Given the description of an element on the screen output the (x, y) to click on. 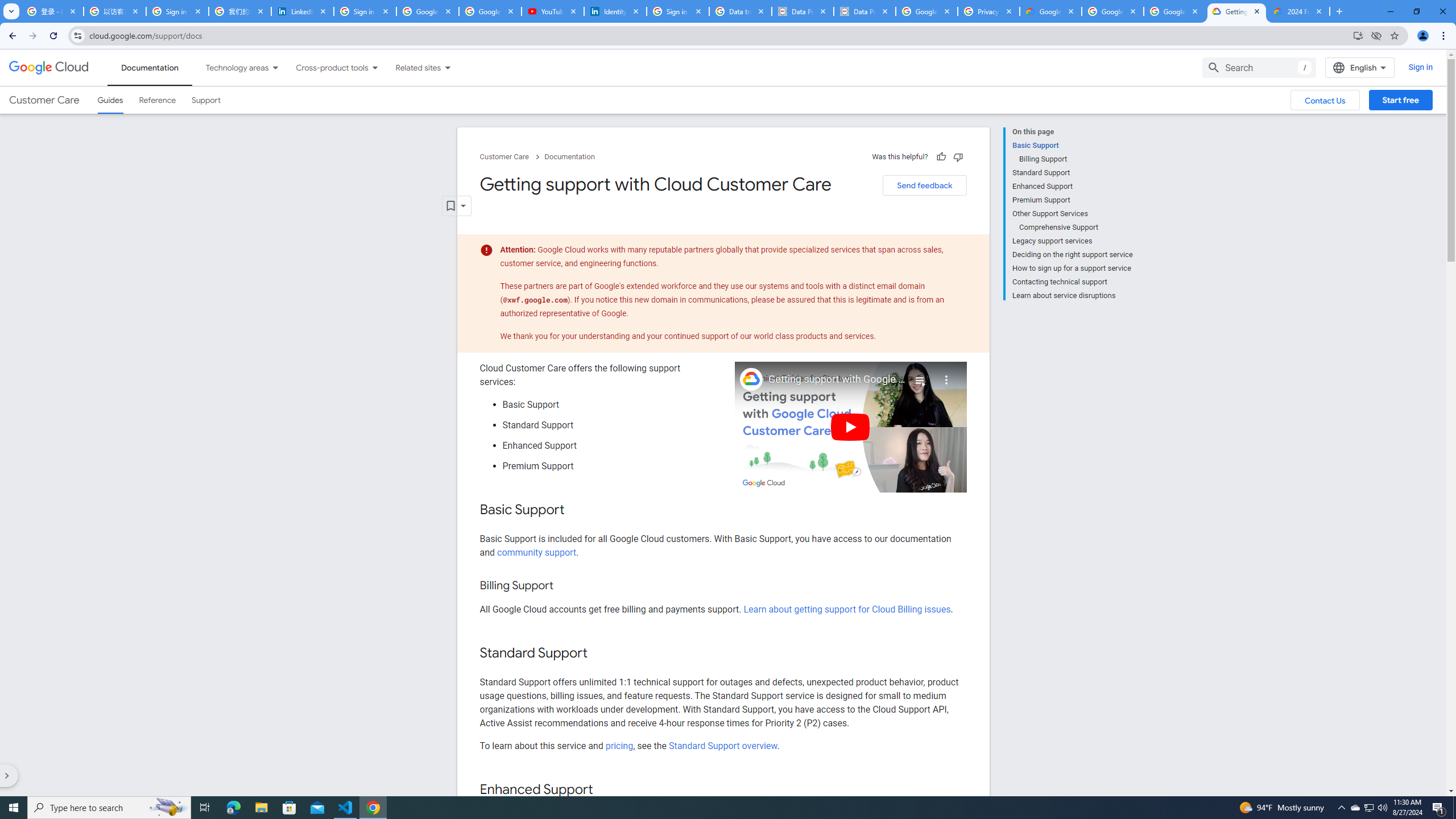
Sign in - Google Accounts (365, 11)
Send feedback (924, 185)
Play (850, 426)
community support (536, 552)
Google Workspace - Specific Terms (1111, 11)
Standard Support overview (722, 745)
Deciding on the right support service (1071, 254)
Billing Support (1075, 159)
Contacting technical support (1071, 282)
Playlist (919, 375)
Data Privacy Framework (802, 11)
Dropdown menu for Technology areas (274, 67)
